Given the description of an element on the screen output the (x, y) to click on. 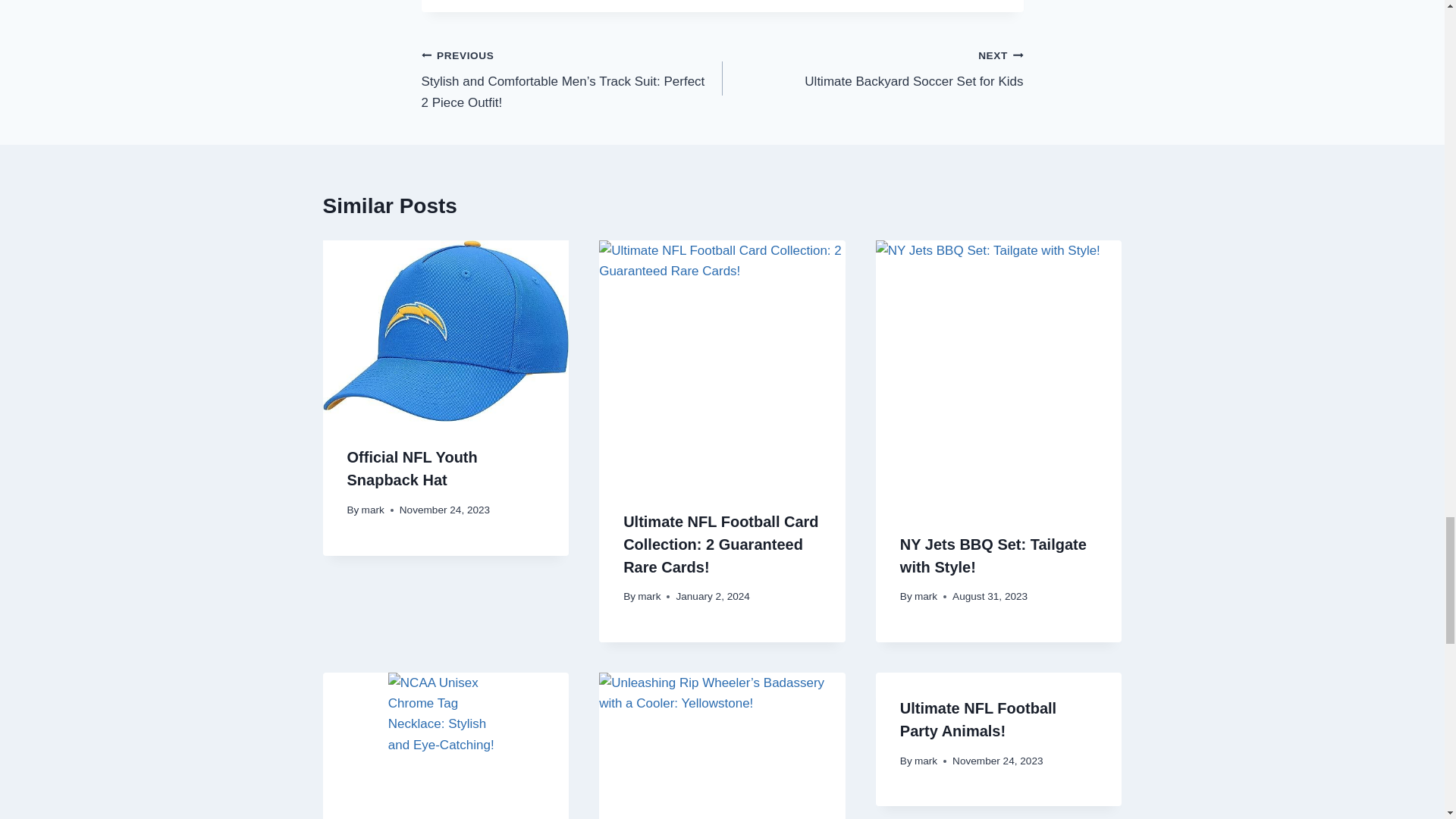
Official NFL Youth Snapback Hat (412, 468)
mark (872, 68)
mark (649, 595)
